Given the description of an element on the screen output the (x, y) to click on. 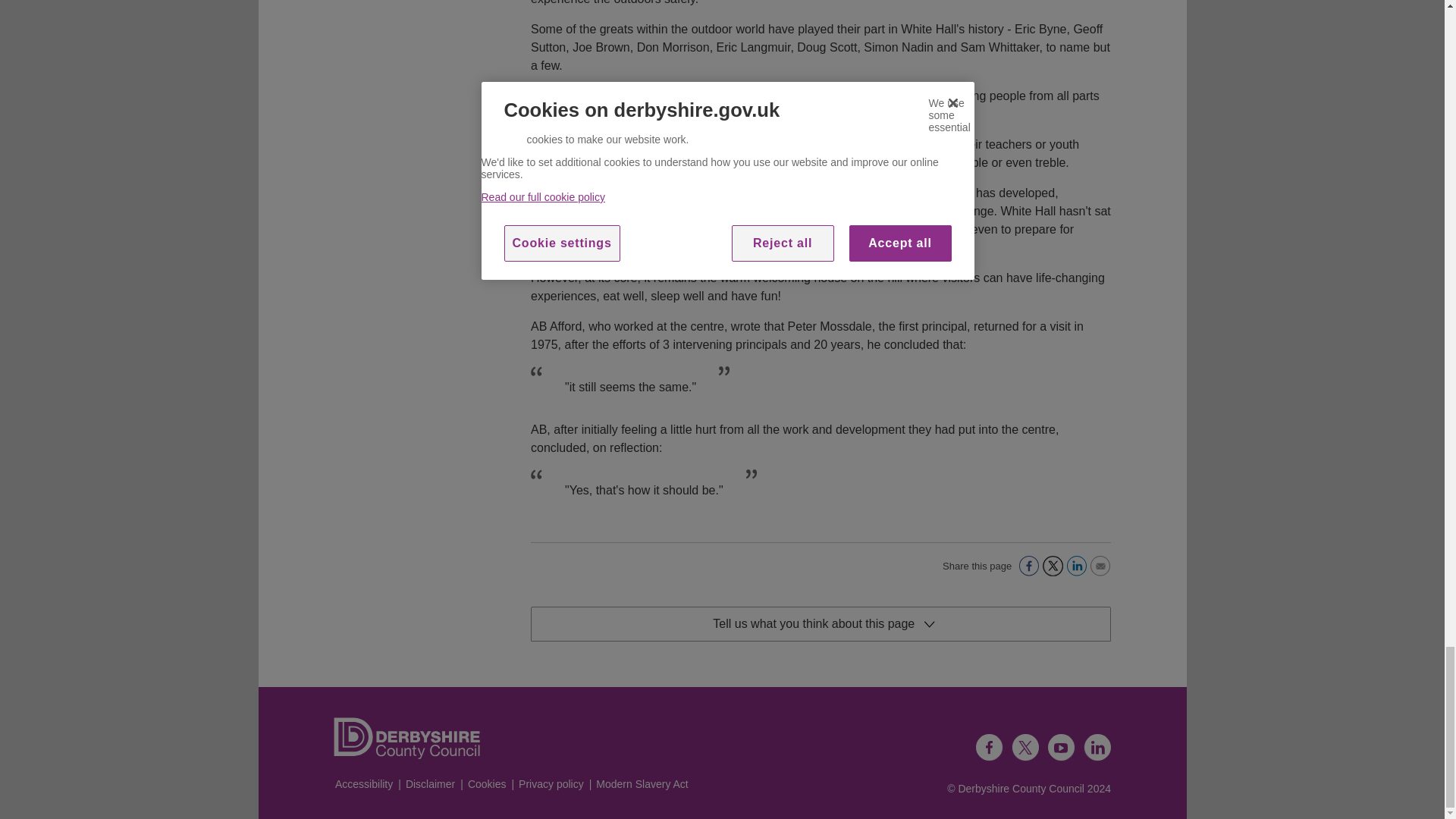
Modern Slavery Act (641, 784)
Privacy policy (550, 784)
Disclaimer (430, 784)
Cookies (486, 784)
Accessibility (363, 784)
